Given the description of an element on the screen output the (x, y) to click on. 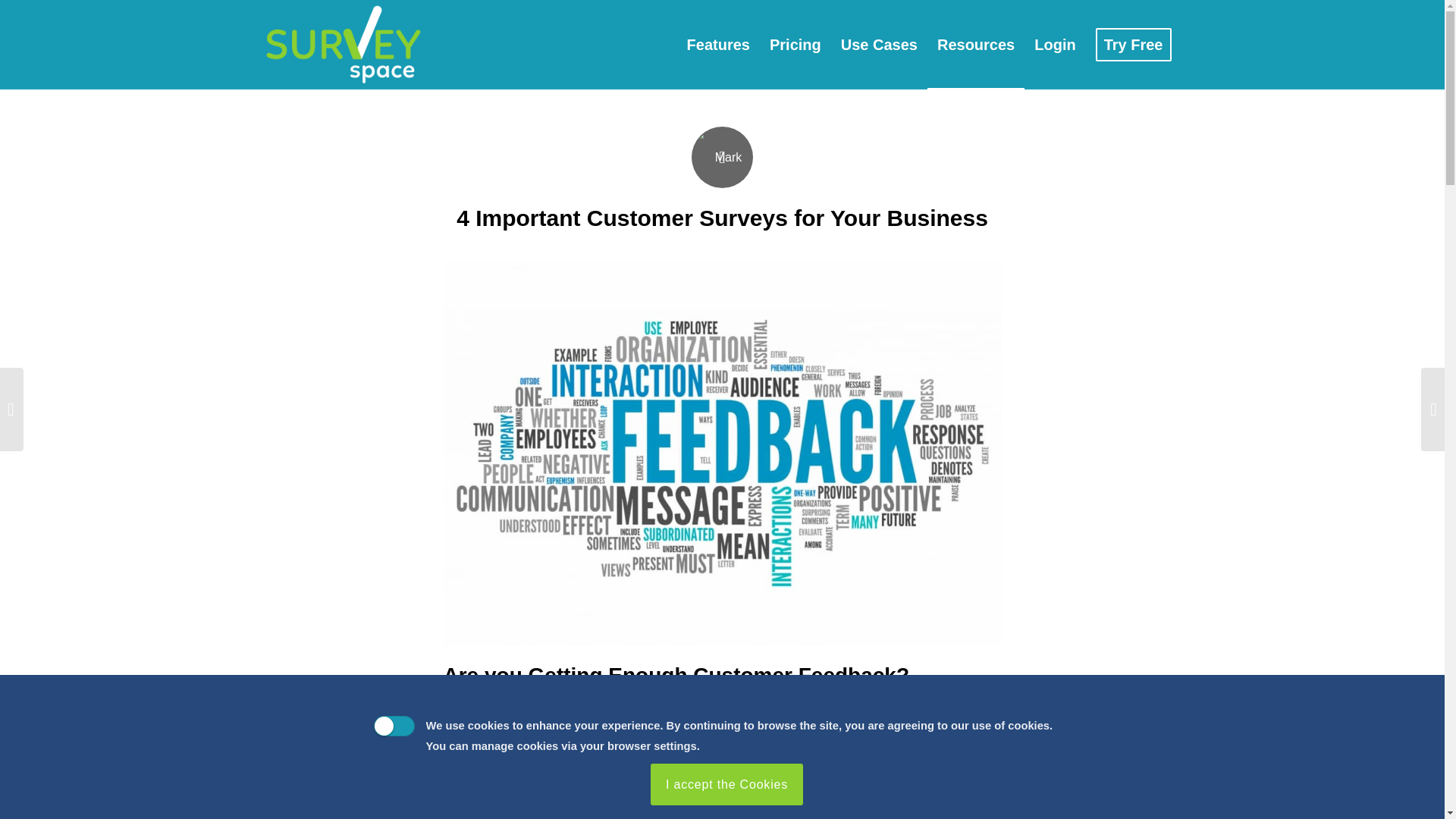
Use Cases (879, 44)
Resources (976, 44)
Login (1054, 44)
Survey Space Logo Green White (343, 44)
Pricing (795, 44)
Features (718, 44)
Try Free (1133, 44)
